Given the description of an element on the screen output the (x, y) to click on. 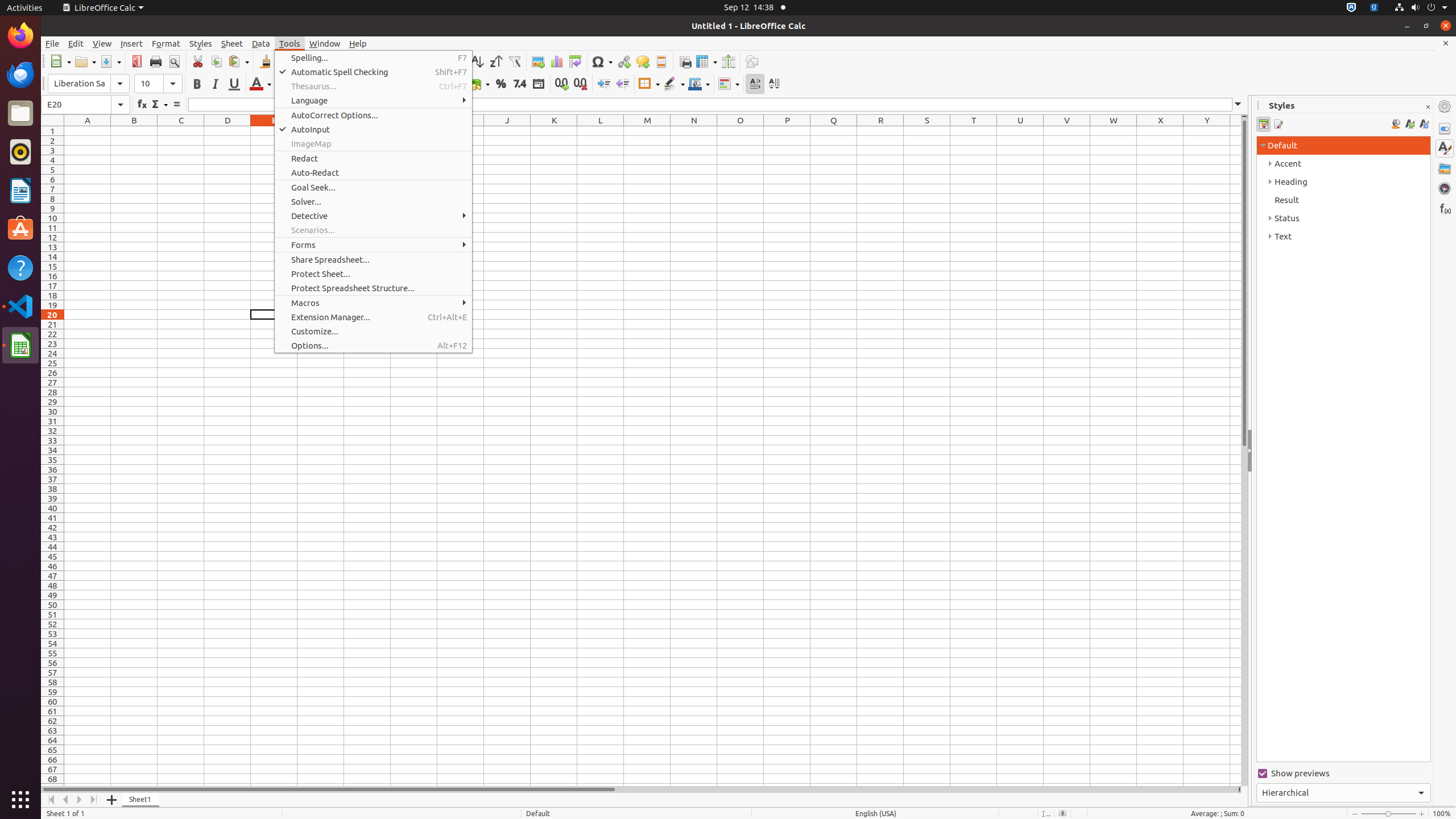
Redact Element type: menu-item (373, 158)
W1 Element type: table-cell (1113, 130)
Vertical scroll bar Element type: scroll-bar (1244, 451)
Insert Element type: menu (131, 43)
Image Element type: push-button (537, 61)
